Given the description of an element on the screen output the (x, y) to click on. 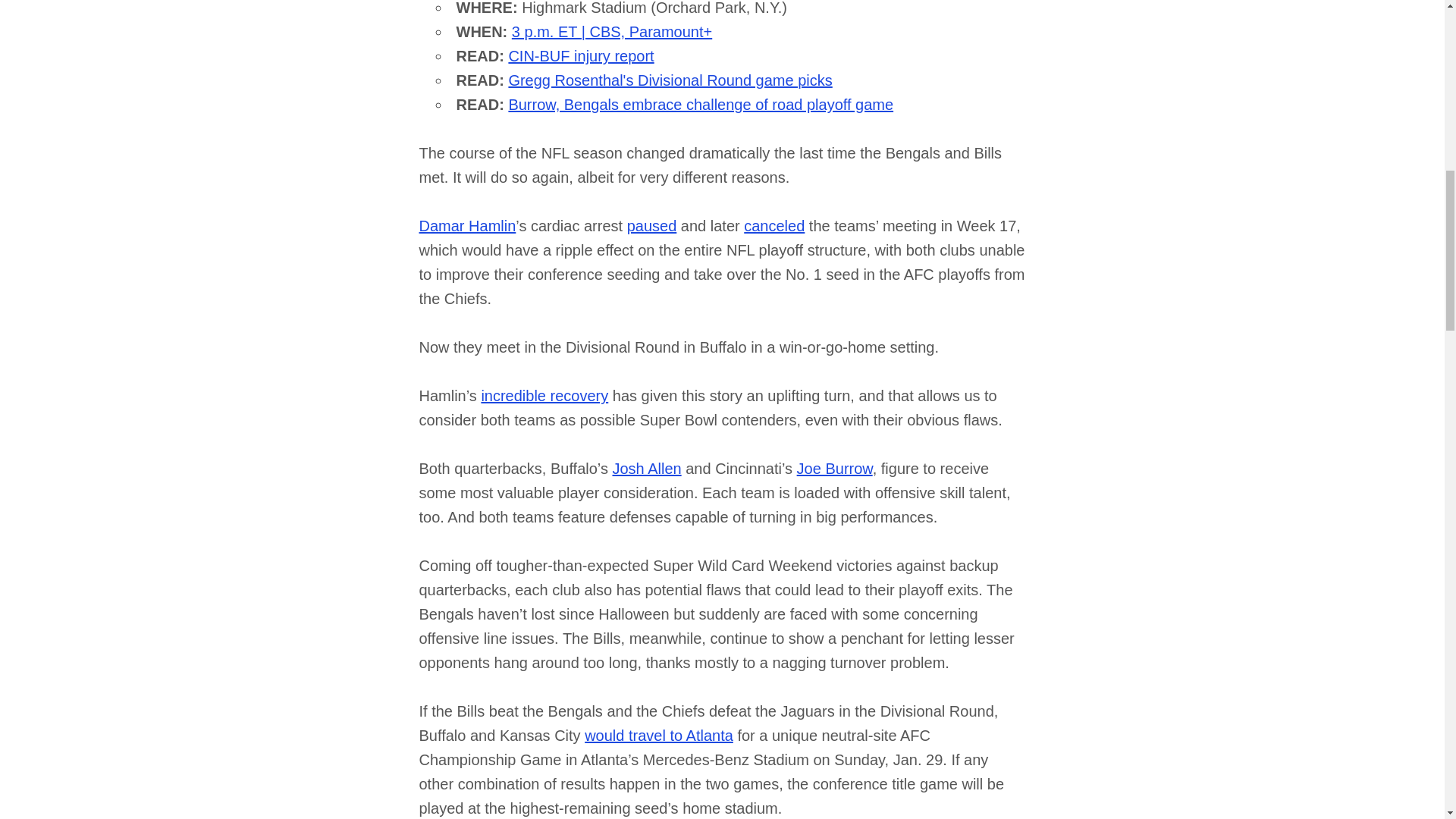
Gregg Rosenthal's Divisional Round game picks (669, 80)
Damar Hamlin (467, 225)
CIN-BUF injury report (580, 55)
Josh Allen (646, 468)
Joe Burrow (834, 468)
paused (652, 225)
would travel to Atlanta (659, 735)
incredible recovery (544, 395)
canceled (774, 225)
Burrow, Bengals embrace challenge of road playoff game (700, 104)
